Given the description of an element on the screen output the (x, y) to click on. 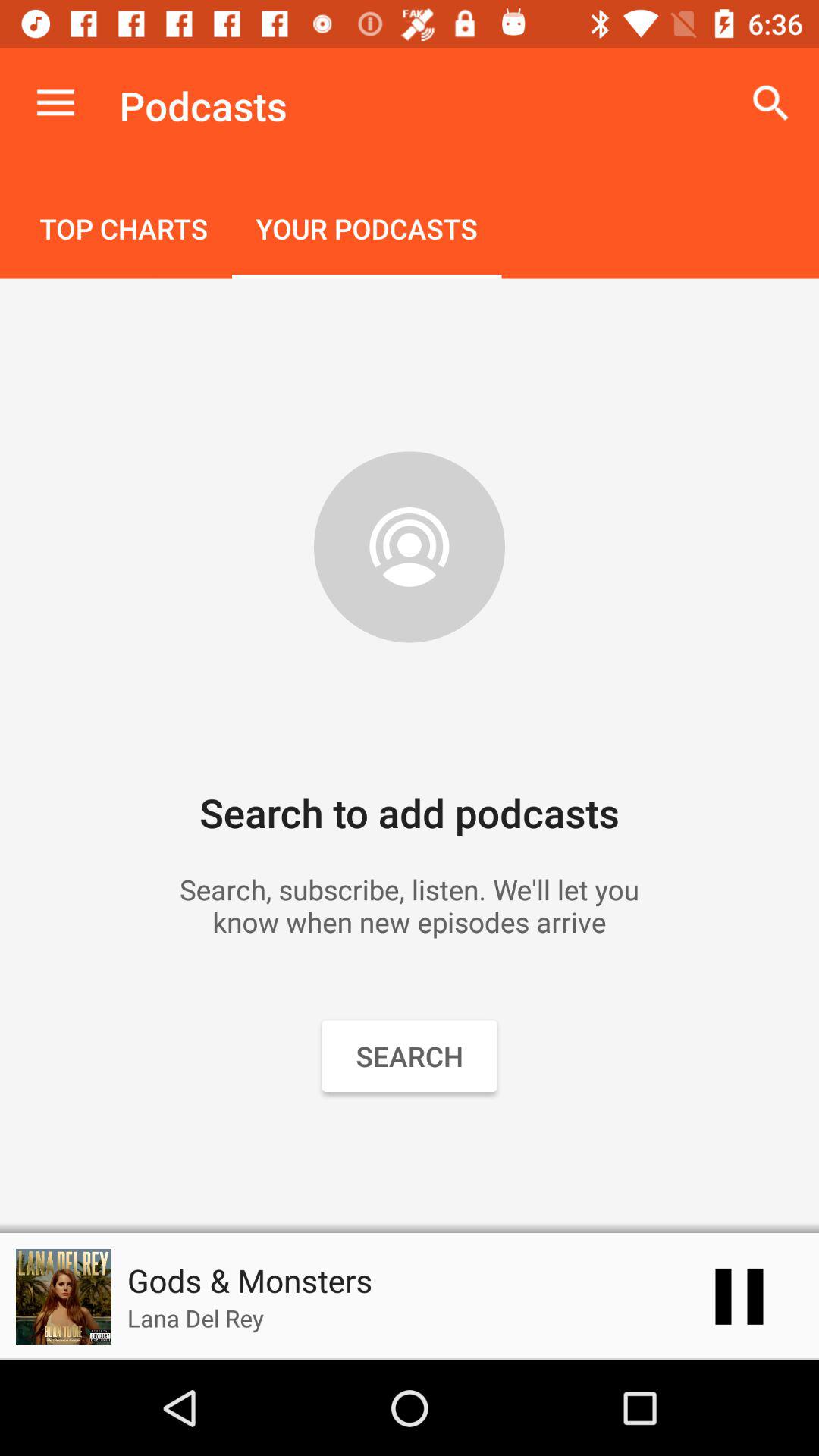
press icon below search subscribe listen item (739, 1296)
